Given the description of an element on the screen output the (x, y) to click on. 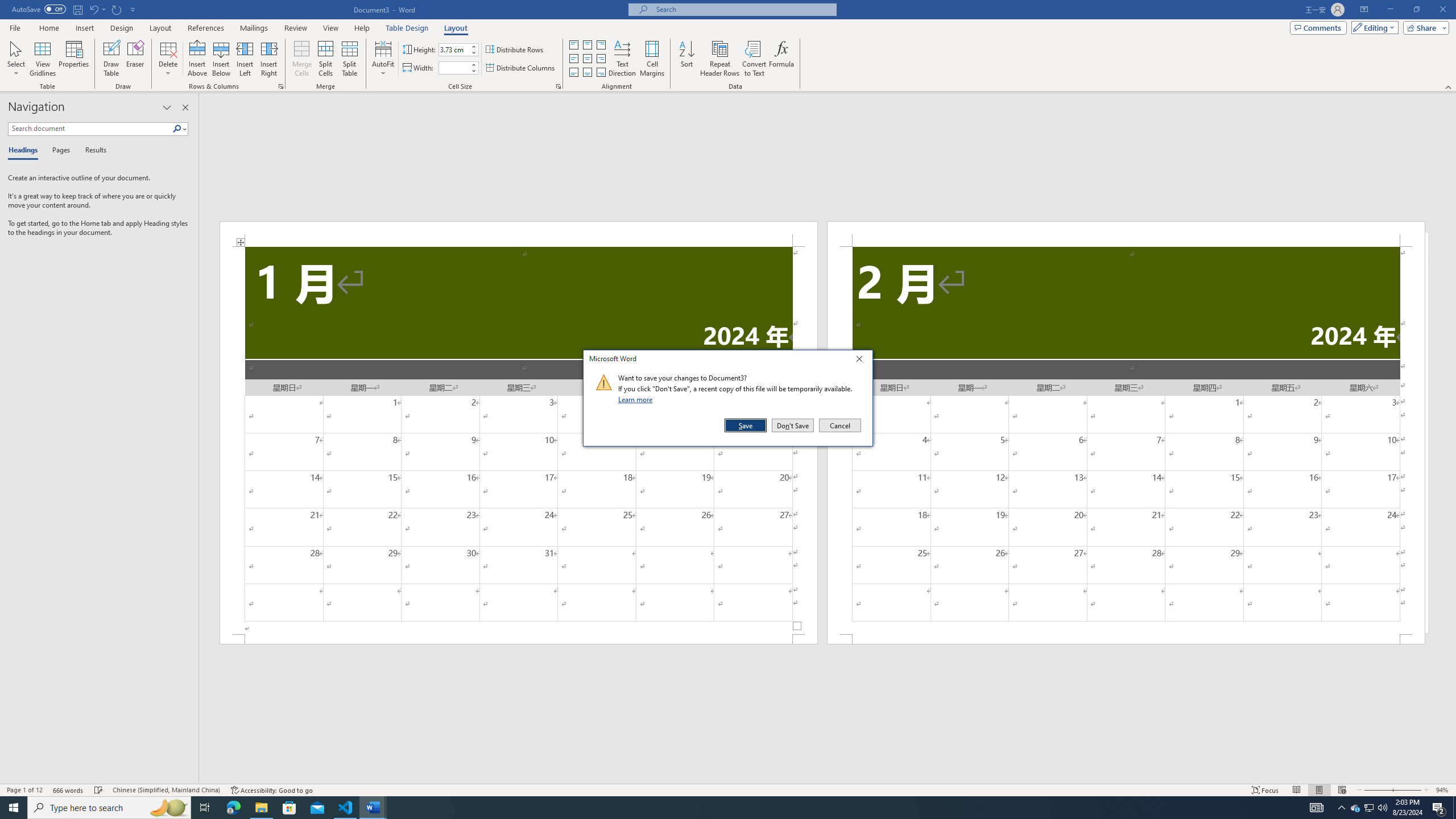
Draw Table (111, 58)
User Promoted Notification Area (1368, 807)
Search highlights icon opens search home window (167, 807)
Zoom Out (1377, 790)
AutomationID: 4105 (1316, 807)
Type here to search (108, 807)
Don't Save (792, 425)
Class: NetUIImage (603, 382)
Minimize (1390, 9)
Class: MsoCommandBar (728, 789)
Search (177, 128)
Visual Studio Code - 1 running window (345, 807)
Distribute Rows (515, 49)
Align Top Right (601, 44)
